Given the description of an element on the screen output the (x, y) to click on. 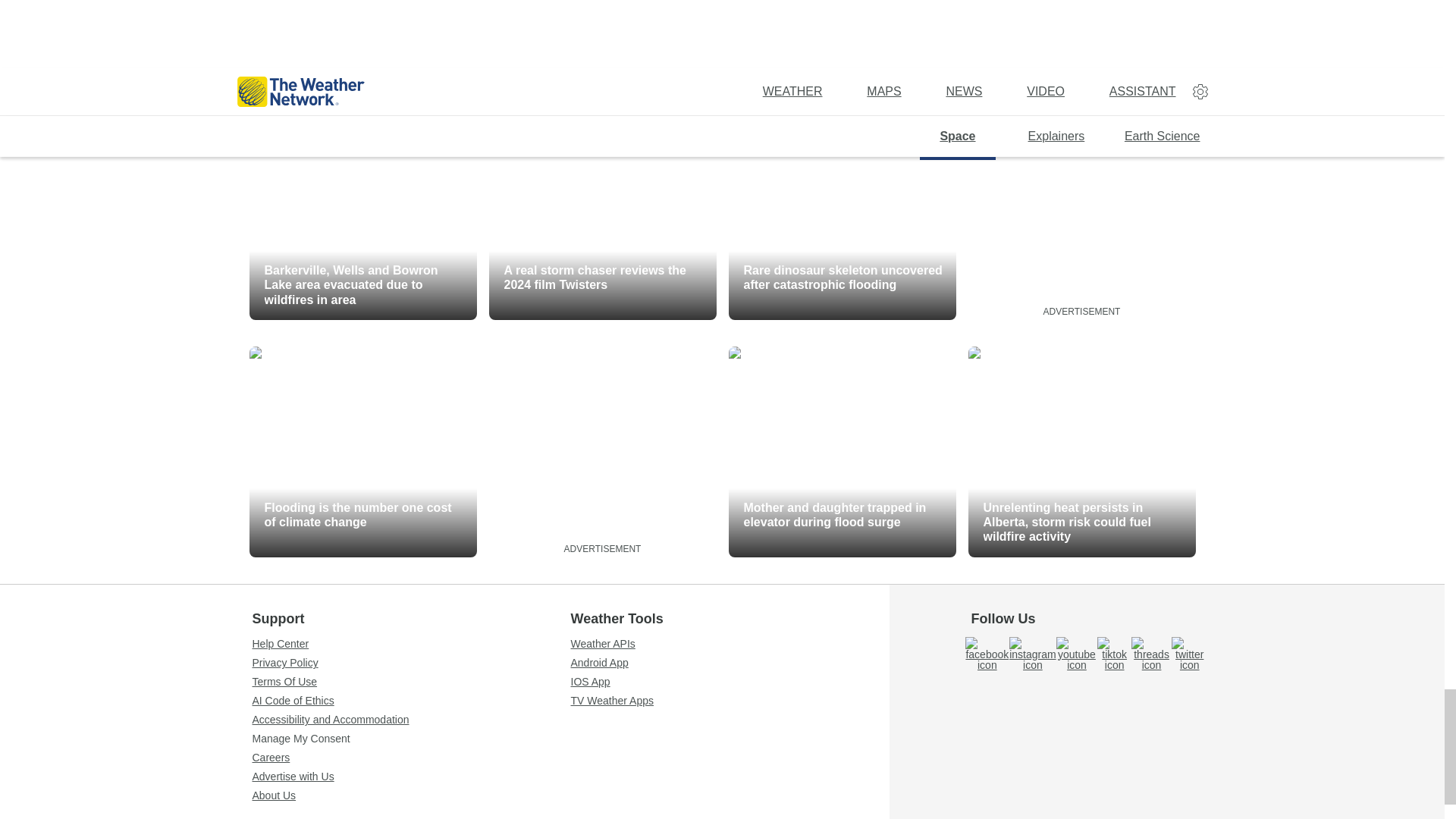
About Us (410, 795)
A real storm chaser reviews the 2024 film Twisters (601, 214)
Mother and daughter trapped in elevator during flood surge (841, 451)
Terms Of Use (410, 681)
Privacy Policy (410, 662)
Accessibility and Accommodation (410, 719)
Advertise with Us (410, 776)
Flooding is the number one cost of climate change (362, 451)
Rare dinosaur skeleton uncovered after catastrophic flooding (841, 214)
Careers (410, 757)
AI Code of Ethics (410, 700)
Wildfire in British Columbia spreads rapidly (362, 41)
Weather APIs (729, 643)
